Given the description of an element on the screen output the (x, y) to click on. 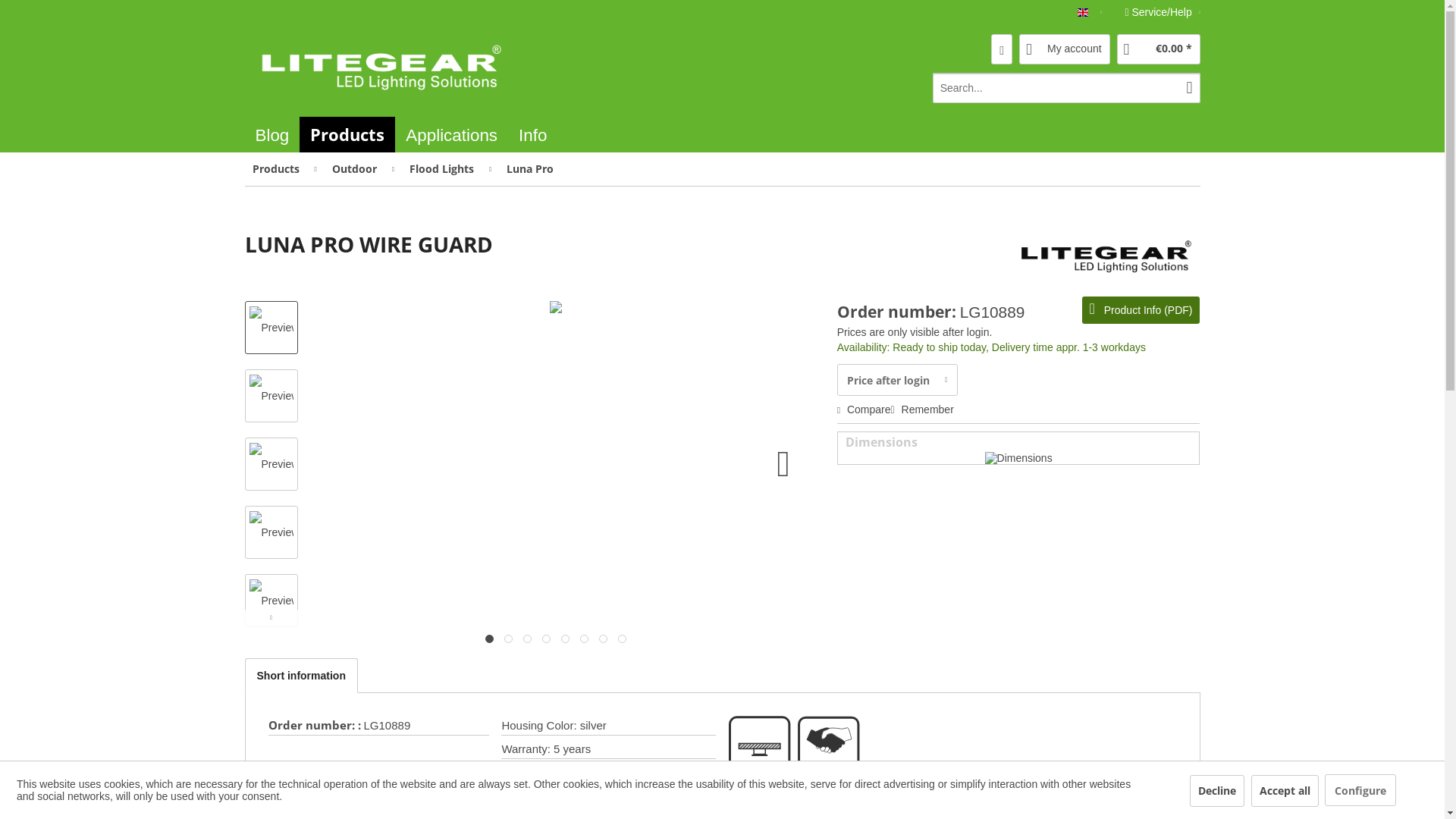
Applications (451, 135)
Blog (271, 135)
Info (532, 135)
Blog (271, 135)
Info (532, 135)
Info (532, 135)
Applications (451, 135)
My account (1064, 49)
Products (346, 134)
Litegear - Switch to homepage (721, 130)
Products (378, 67)
Products (721, 134)
Shopping cart (346, 134)
